Given the description of an element on the screen output the (x, y) to click on. 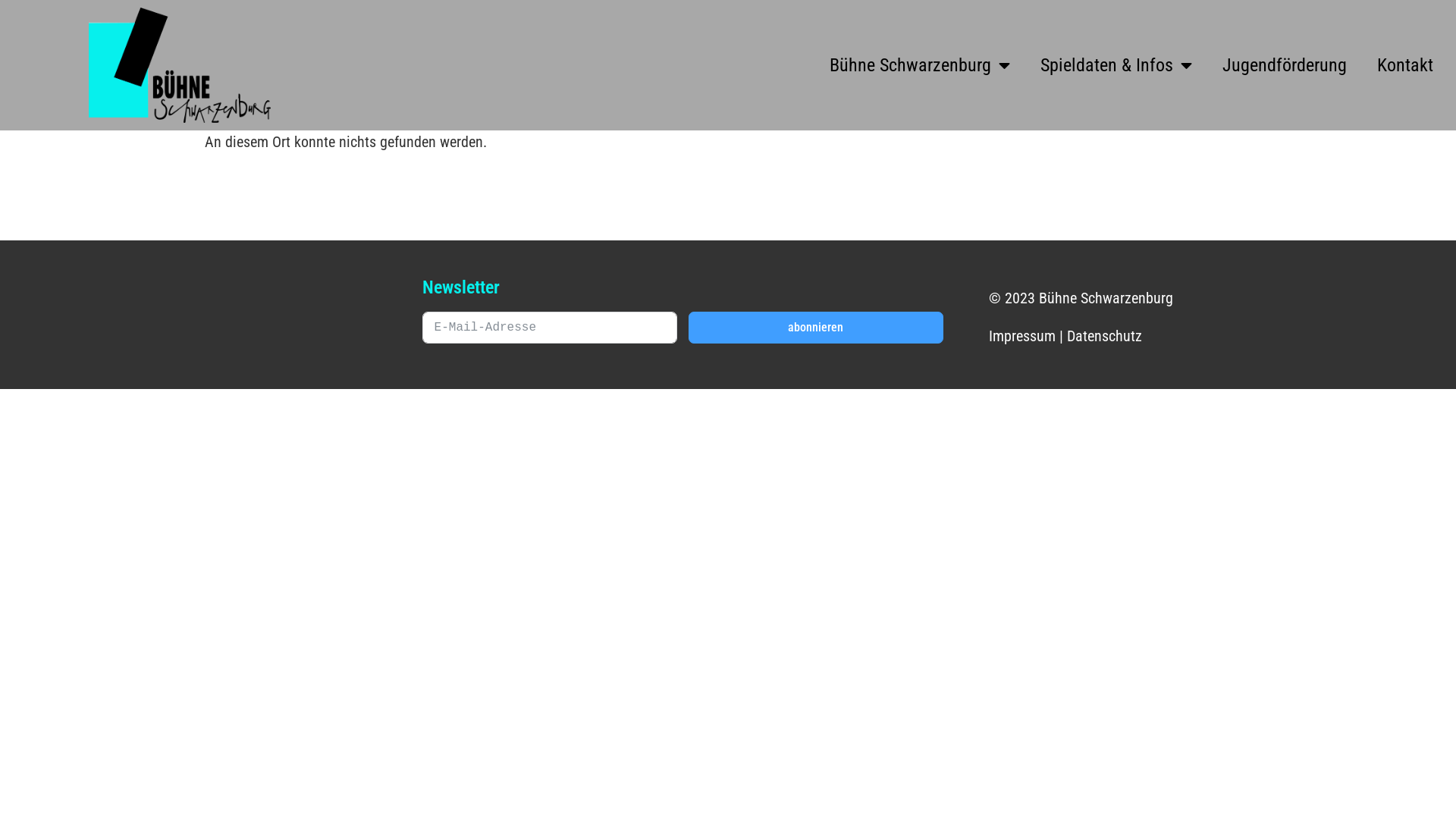
abonnieren Element type: text (815, 327)
Impressum Element type: text (1021, 335)
Spieldaten & Infos Element type: text (1116, 65)
Kontakt Element type: text (1404, 65)
Datenschutz Element type: text (1104, 335)
